Given the description of an element on the screen output the (x, y) to click on. 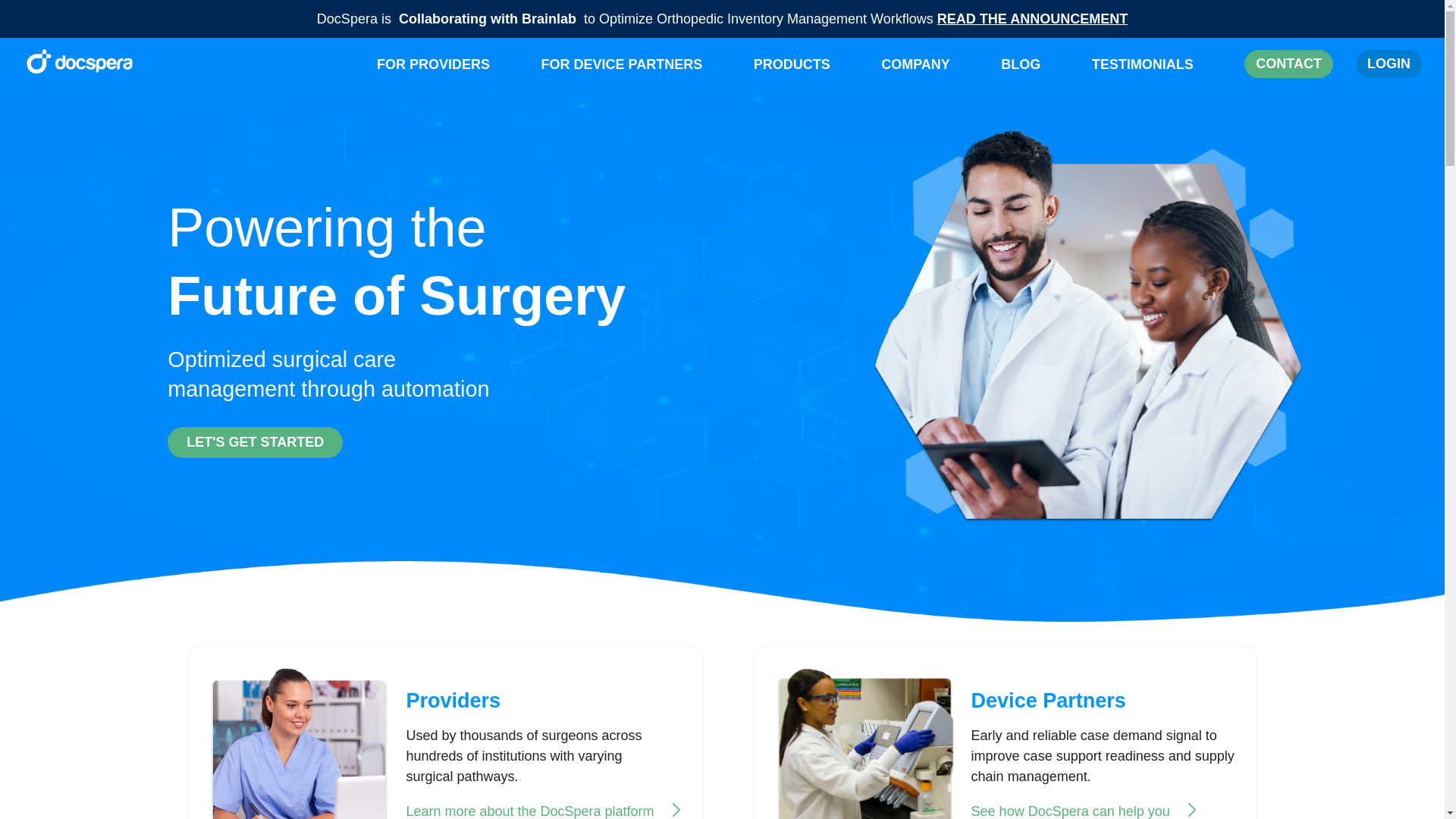
See how DocSpera can help you (1084, 811)
LET'S GET STARTED (254, 441)
FOR PROVIDERS (433, 64)
LET'S GET STARTED (254, 441)
Learn more about the DocSpera platform (544, 811)
TESTIMONIALS (1142, 65)
FOR DEVICE PARTNERS (620, 64)
BLOG (1021, 65)
LOGIN (1388, 63)
READ THE ANNOUNCEMENT (1031, 18)
